Given the description of an element on the screen output the (x, y) to click on. 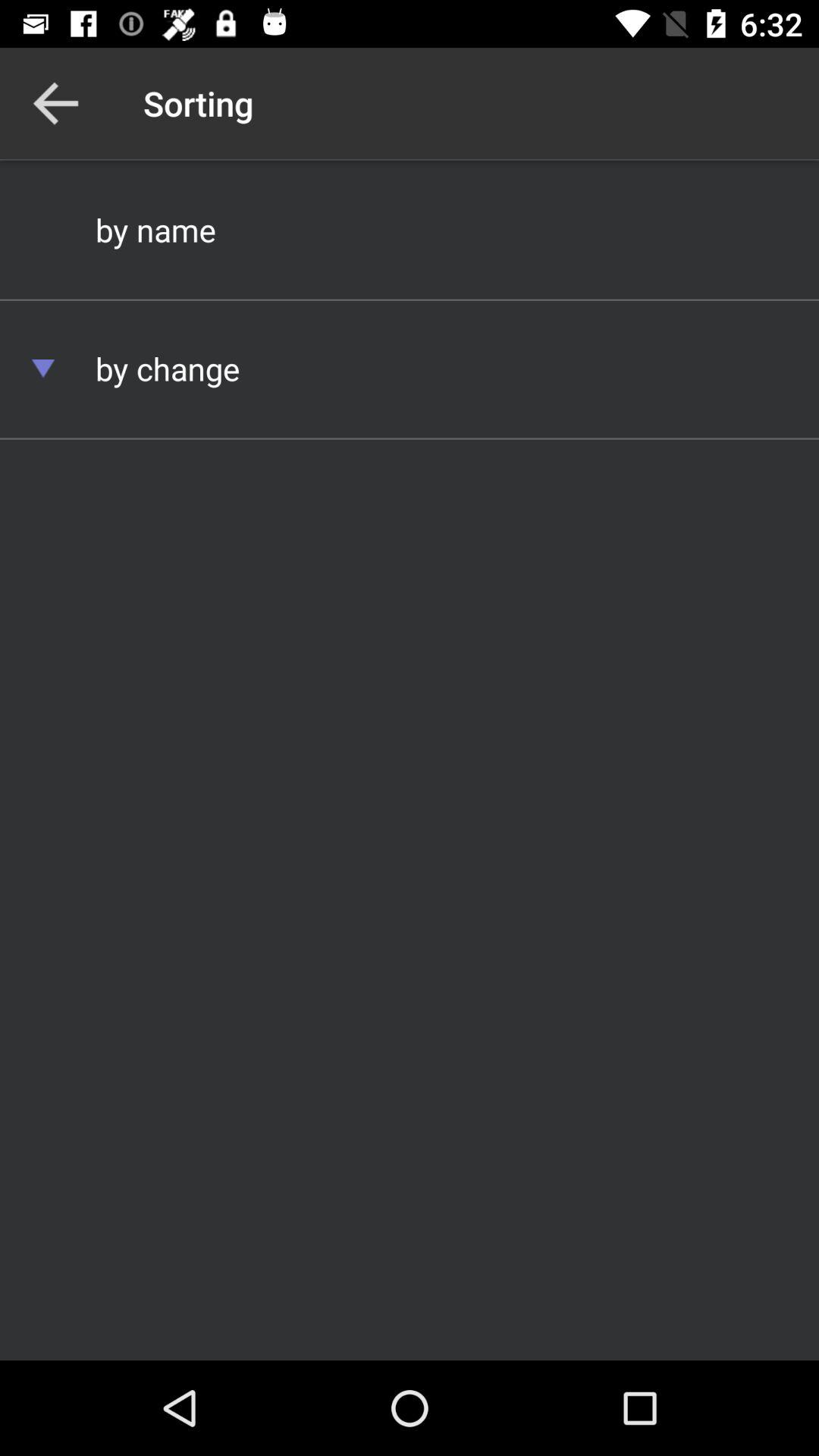
previous page (55, 103)
